Given the description of an element on the screen output the (x, y) to click on. 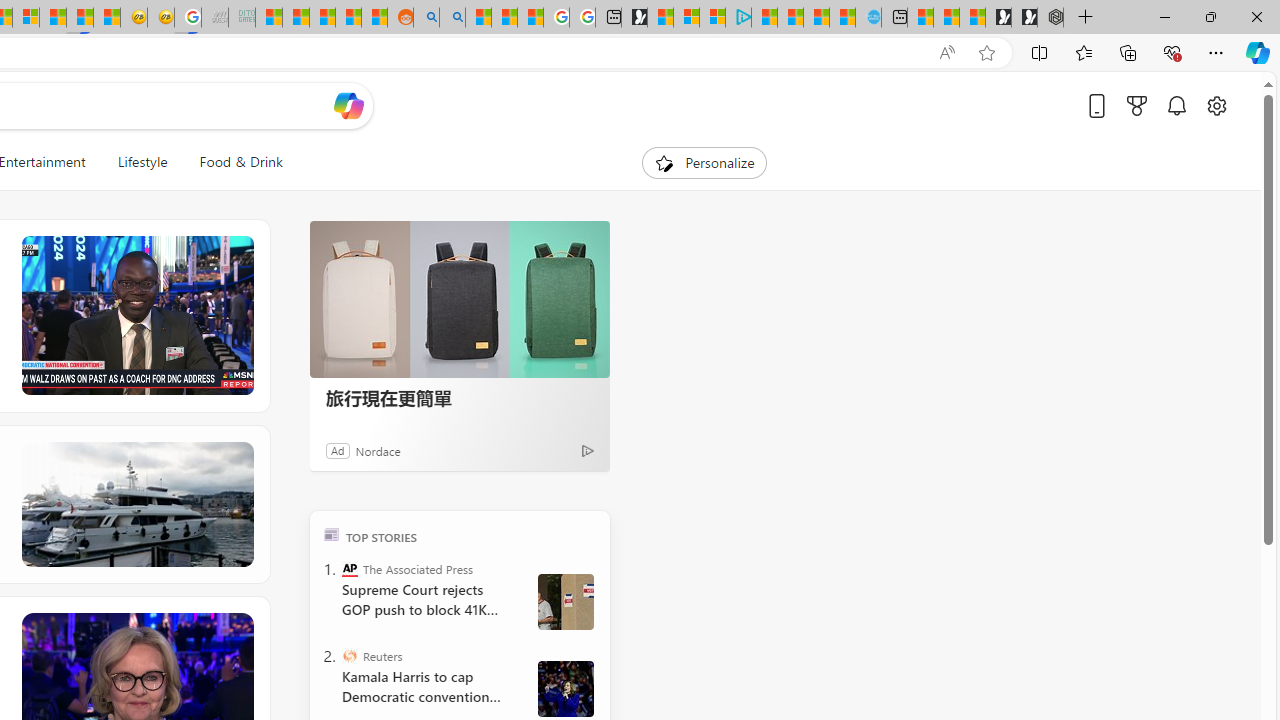
 Harris and Walz campaign in Wisconsin (565, 688)
Student Loan Update: Forgiveness Program Ends This Month (347, 17)
